Given the description of an element on the screen output the (x, y) to click on. 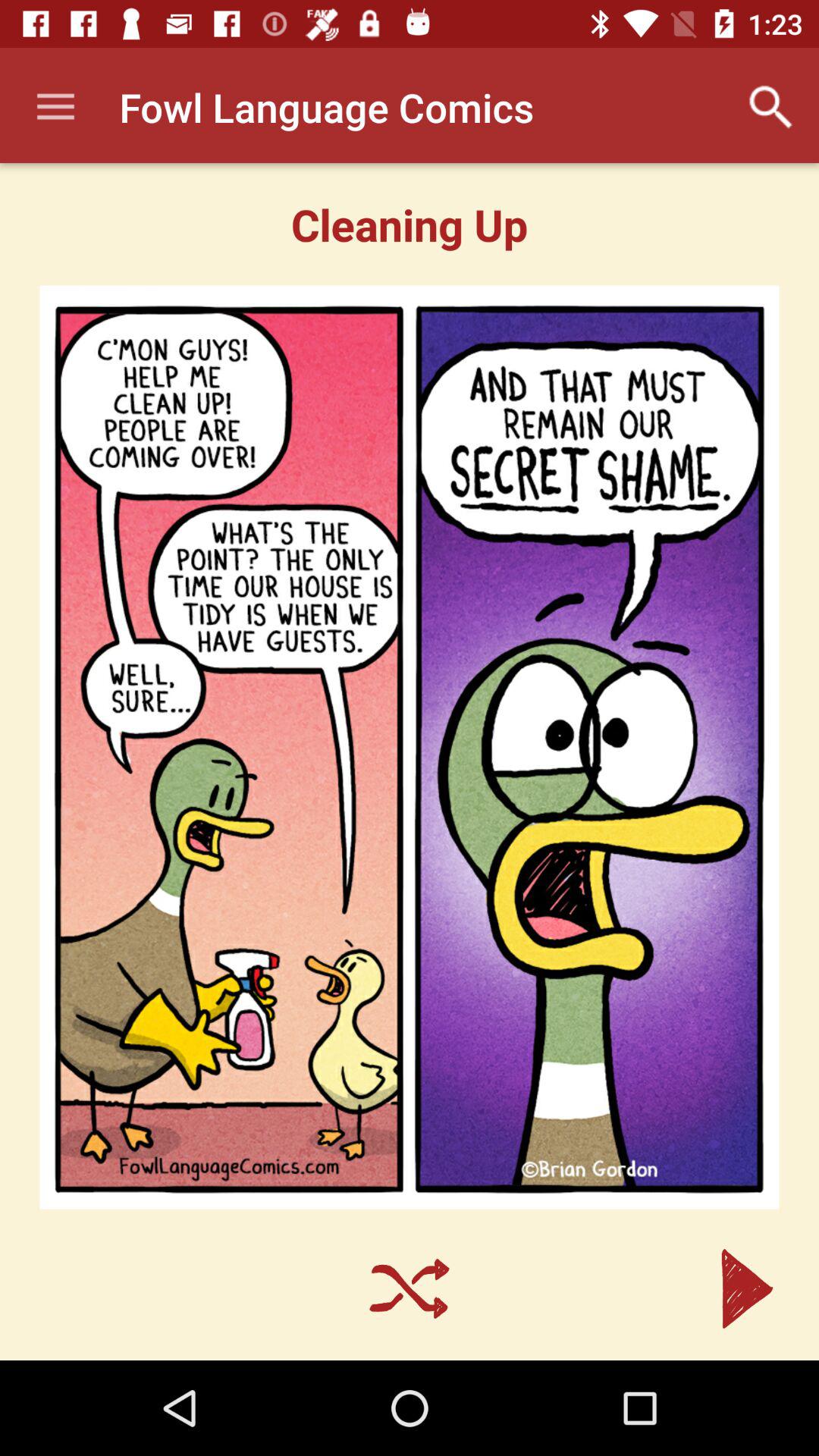
launch the item to the right of the fowl language comics icon (771, 107)
